Given the description of an element on the screen output the (x, y) to click on. 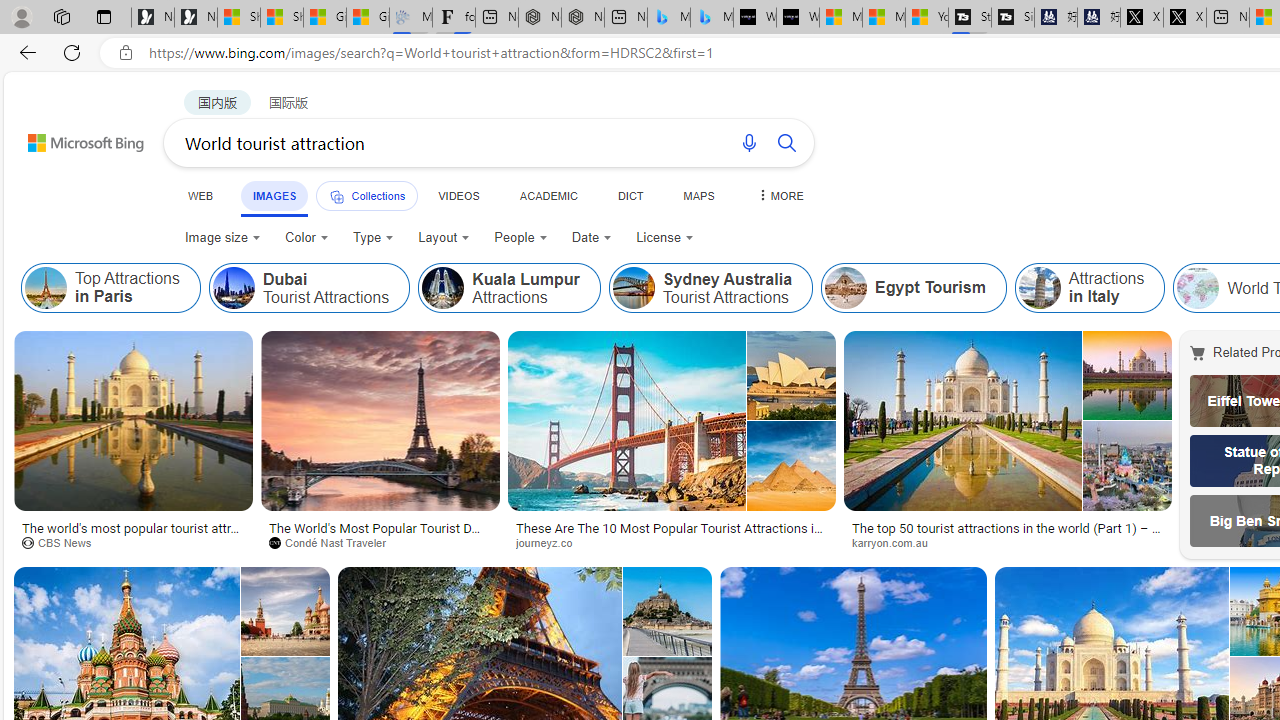
Dubai Tourist Attractions (308, 287)
Sydney Australia Tourist Attractions (710, 287)
MAPS (698, 195)
Date (591, 237)
VIDEOS (458, 195)
Color (305, 237)
Sydney Australia Tourist Attractions (633, 287)
